Given the description of an element on the screen output the (x, y) to click on. 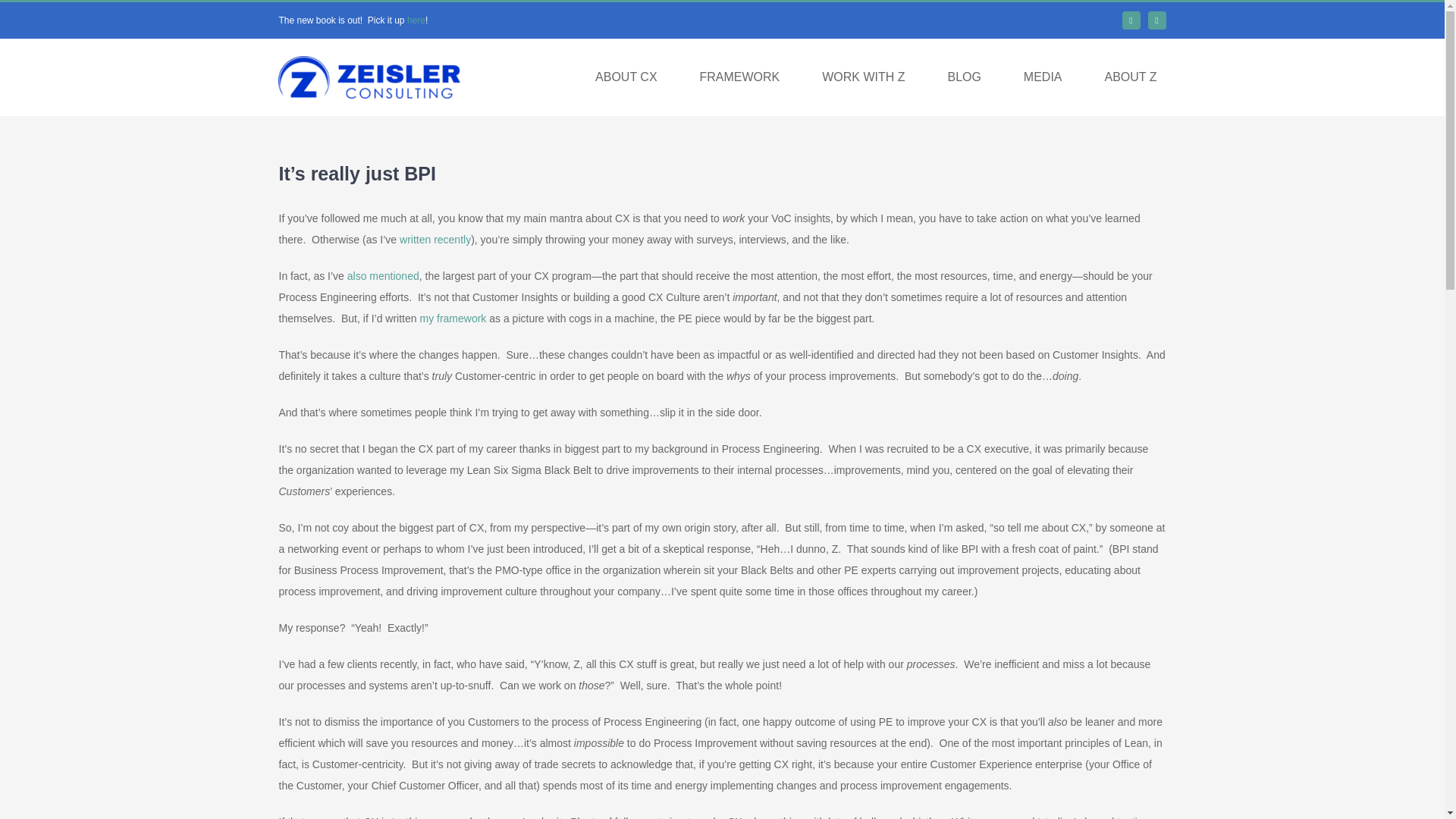
written recently (434, 239)
WORK WITH Z (863, 77)
Email (1157, 20)
LinkedIn (1131, 20)
my framework (452, 318)
here (416, 20)
ABOUT CX (626, 77)
FRAMEWORK (739, 77)
MEDIA (1042, 77)
BLOG (963, 77)
